Given the description of an element on the screen output the (x, y) to click on. 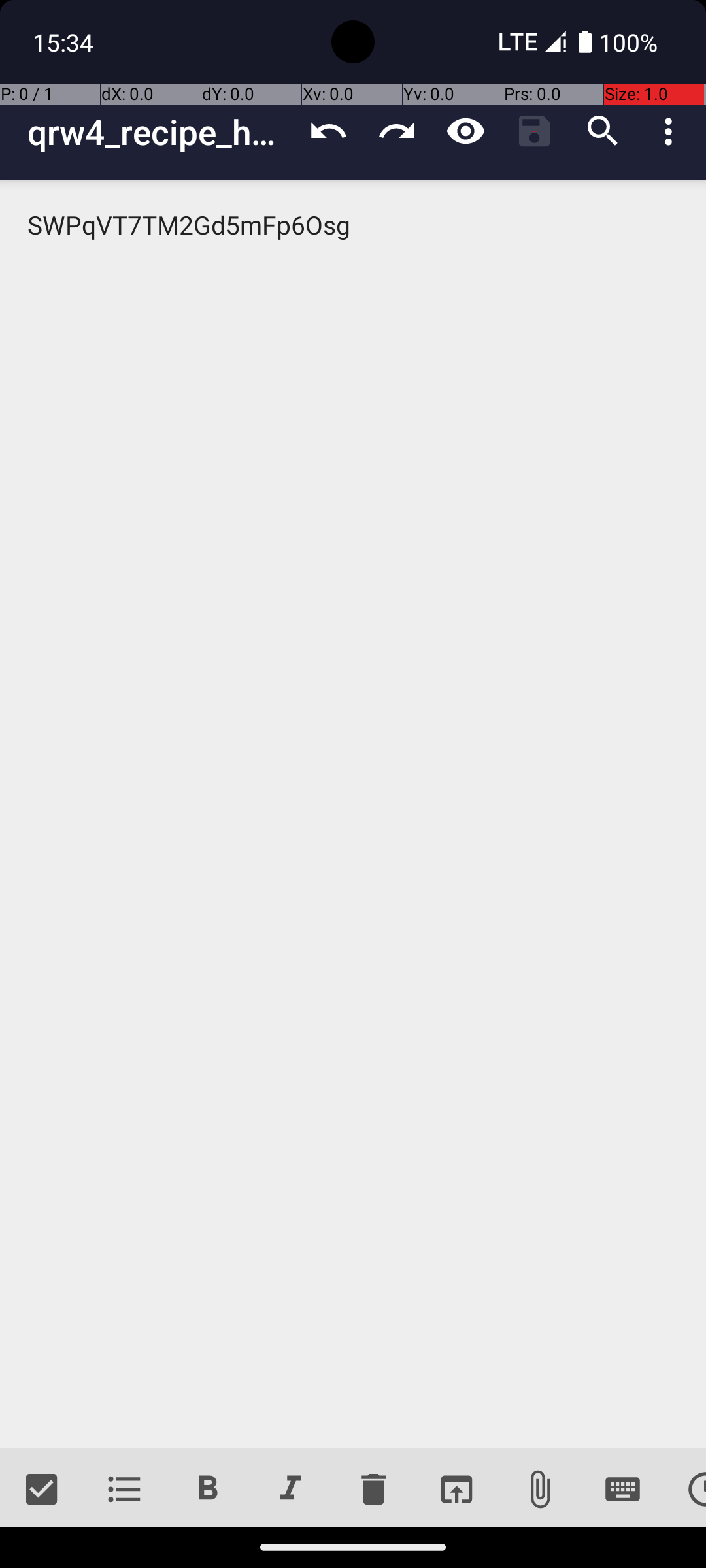
qrw4_recipe_homemade_pizza Element type: android.widget.TextView (160, 131)
SWPqVT7TM2Gd5mFp6Osg Element type: android.widget.EditText (353, 813)
